Given the description of an element on the screen output the (x, y) to click on. 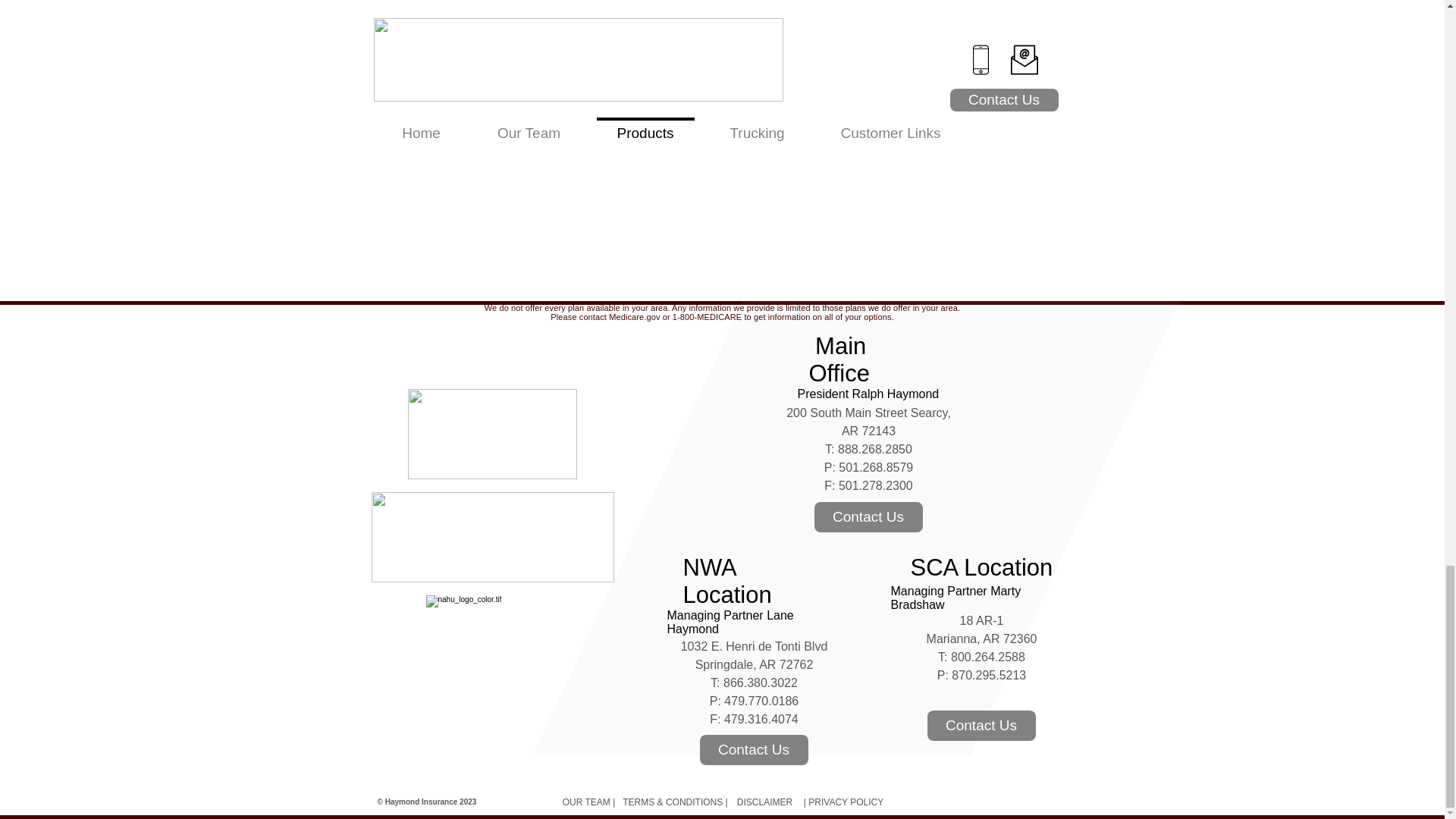
Contact Us (753, 749)
     Q: How much homeowners insurance do I need? (507, 221)
DISCLAIMER (764, 802)
     Q: Where can I get homeowners insurance? (493, 241)
nsurance in my mortgage payment? (665, 180)
     Q: Can your homeowners insurance be canceled? (511, 200)
